Given the description of an element on the screen output the (x, y) to click on. 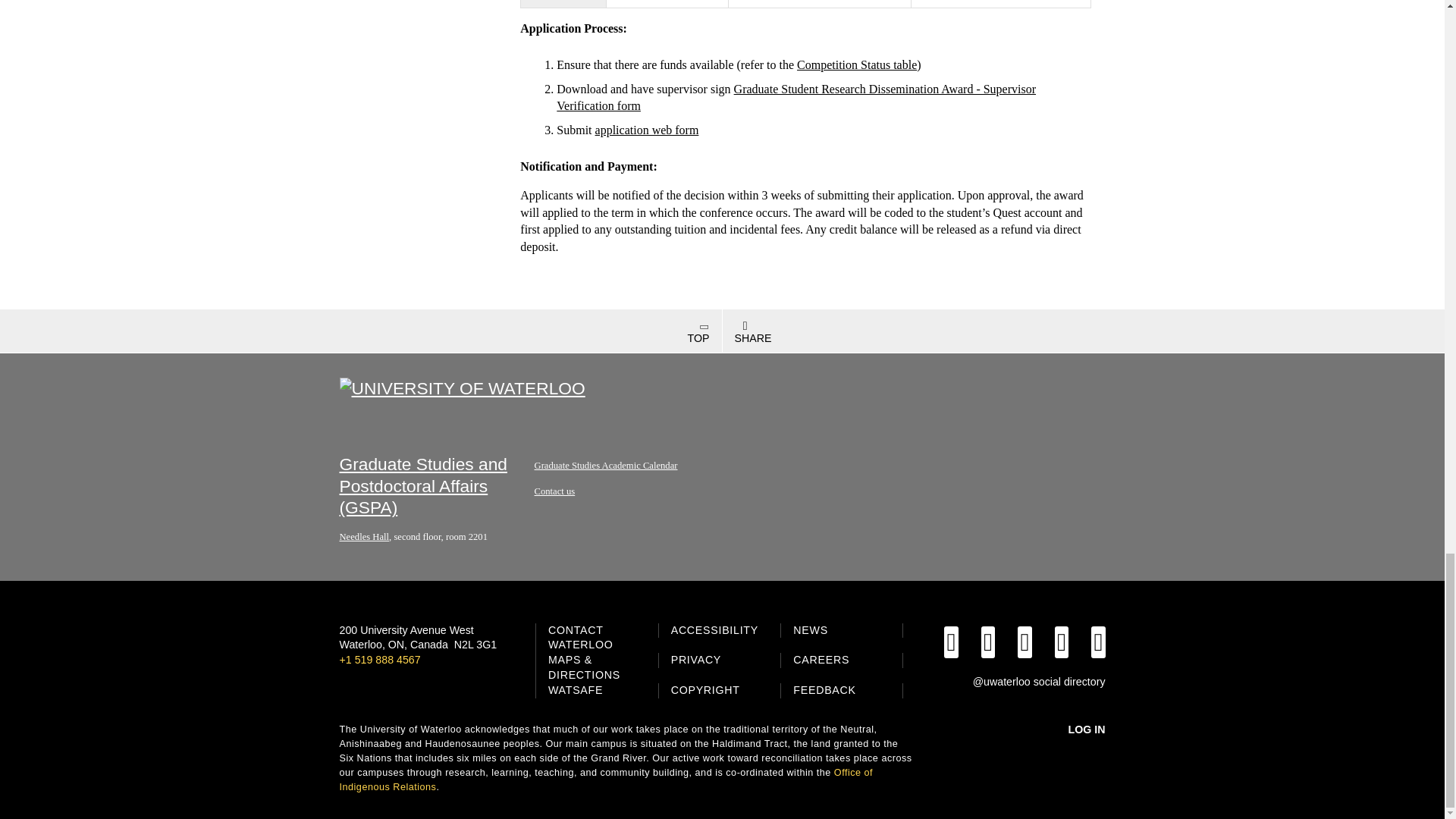
application web form (646, 129)
Competition Status table (856, 64)
TOP (361, 330)
